Given the description of an element on the screen output the (x, y) to click on. 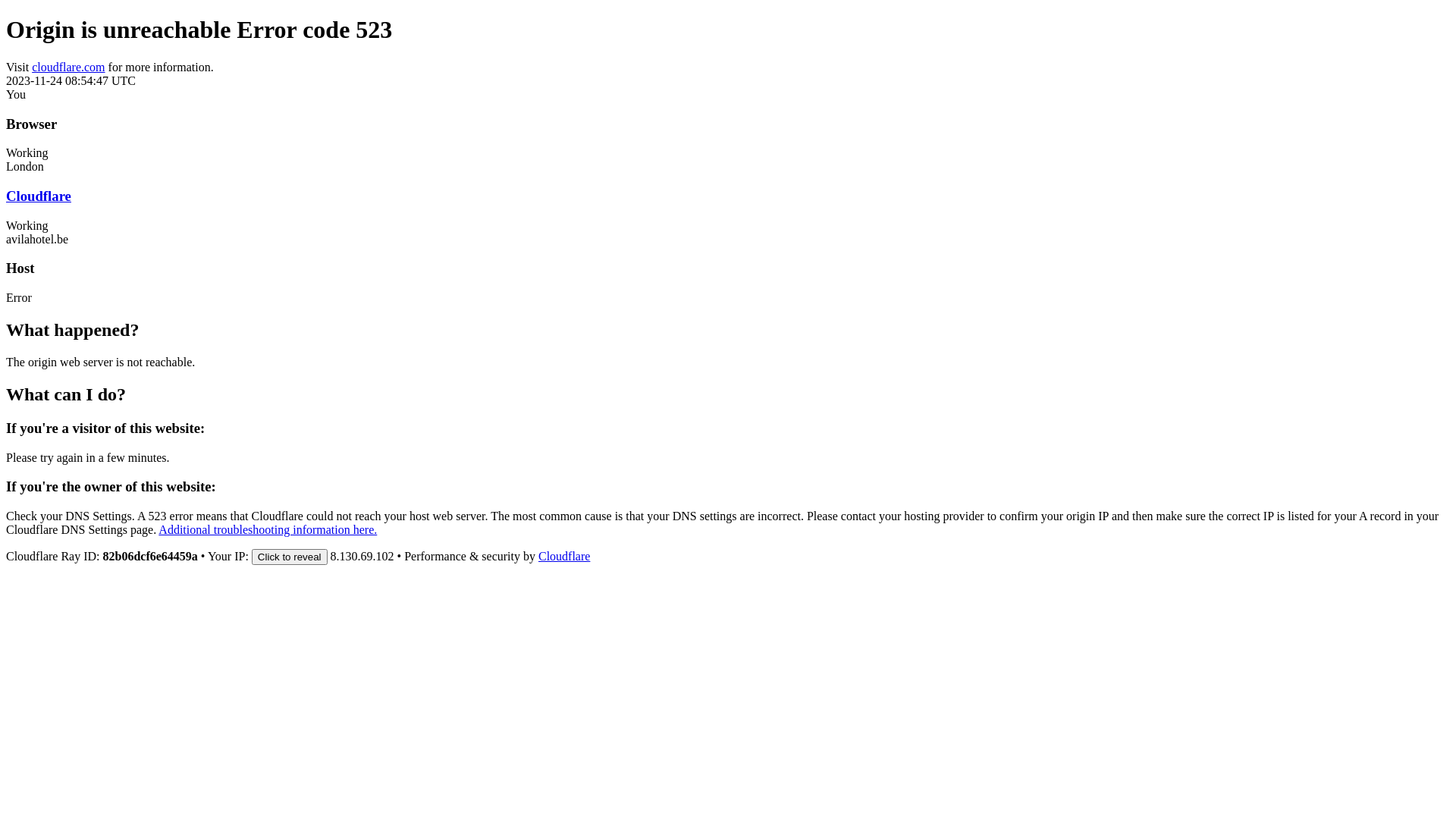
Click to reveal Element type: text (289, 556)
Cloudflare Element type: text (563, 555)
Additional troubleshooting information here. Element type: text (267, 529)
Cloudflare Element type: text (38, 195)
cloudflare.com Element type: text (67, 66)
